Given the description of an element on the screen output the (x, y) to click on. 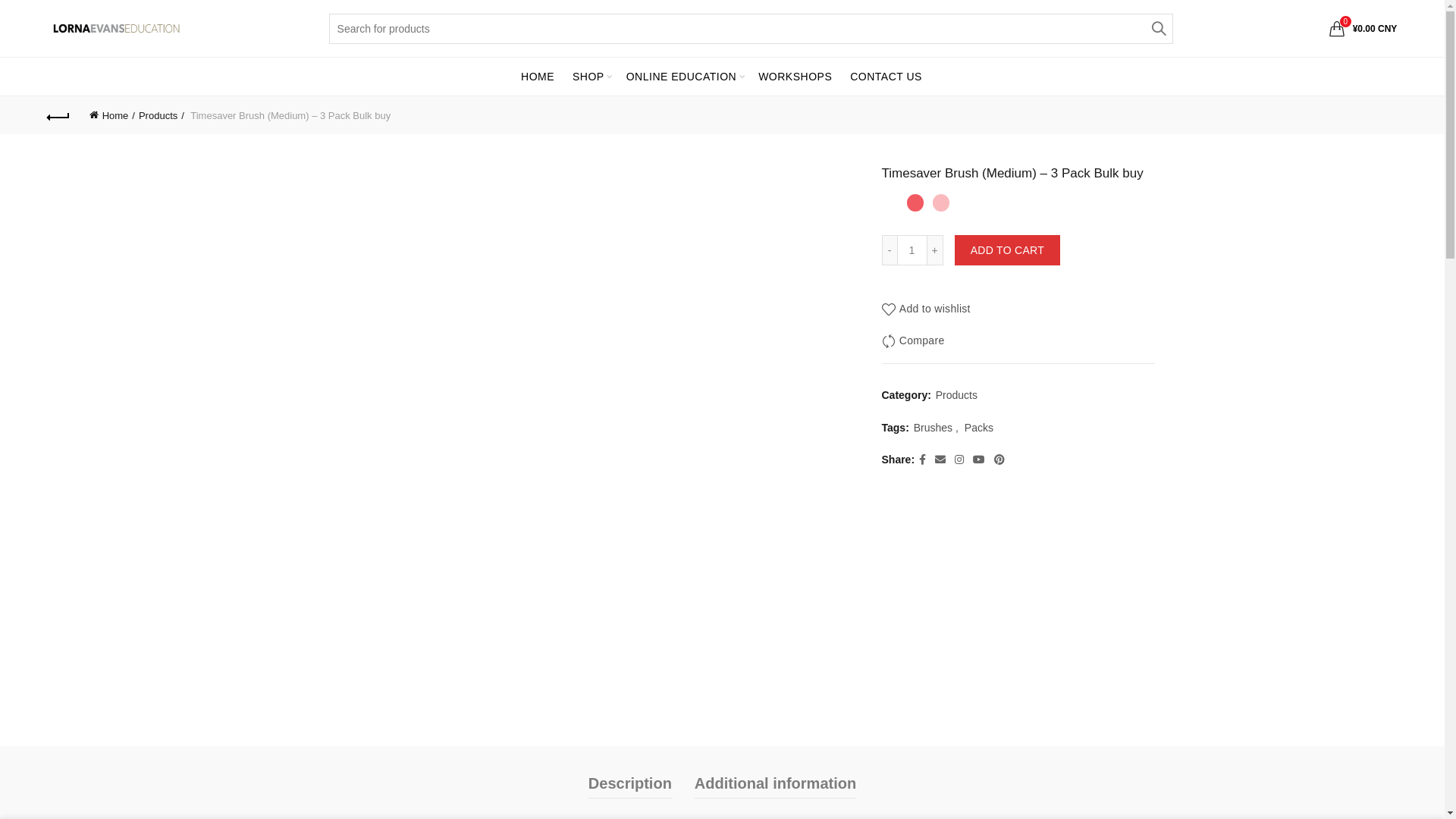
Add to wishlist Element type: text (925, 309)
ONLINE EDUCATION Element type: text (681, 76)
Packs Element type: text (978, 428)
Products Element type: text (161, 114)
ADD TO CART Element type: text (1007, 250)
CONTACT US Element type: text (885, 76)
Back Element type: text (59, 115)
HOME Element type: text (537, 76)
Description Element type: text (629, 782)
SEARCH Element type: text (1157, 28)
WORKSHOPS Element type: text (794, 76)
SHOP Element type: text (588, 76)
Products Element type: text (956, 395)
Additional information Element type: text (775, 782)
Brushes Element type: text (932, 428)
Compare Element type: text (912, 341)
Home Element type: text (111, 114)
Qty Element type: hover (911, 250)
